Given the description of an element on the screen output the (x, y) to click on. 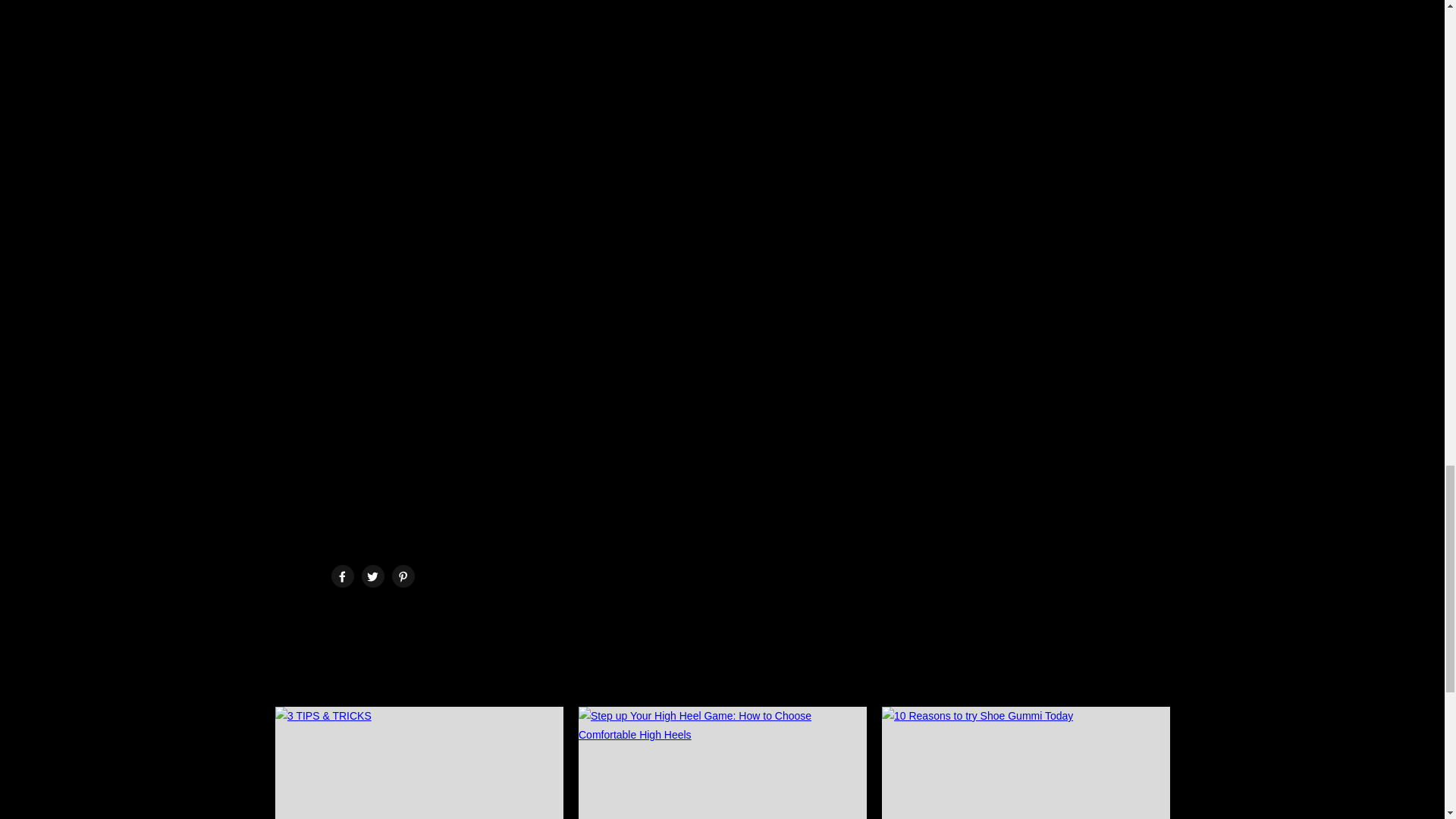
pinterest (402, 576)
Facebook (342, 576)
Shoe Gummi outer-sole pads (799, 486)
Twitter (372, 576)
